Given the description of an element on the screen output the (x, y) to click on. 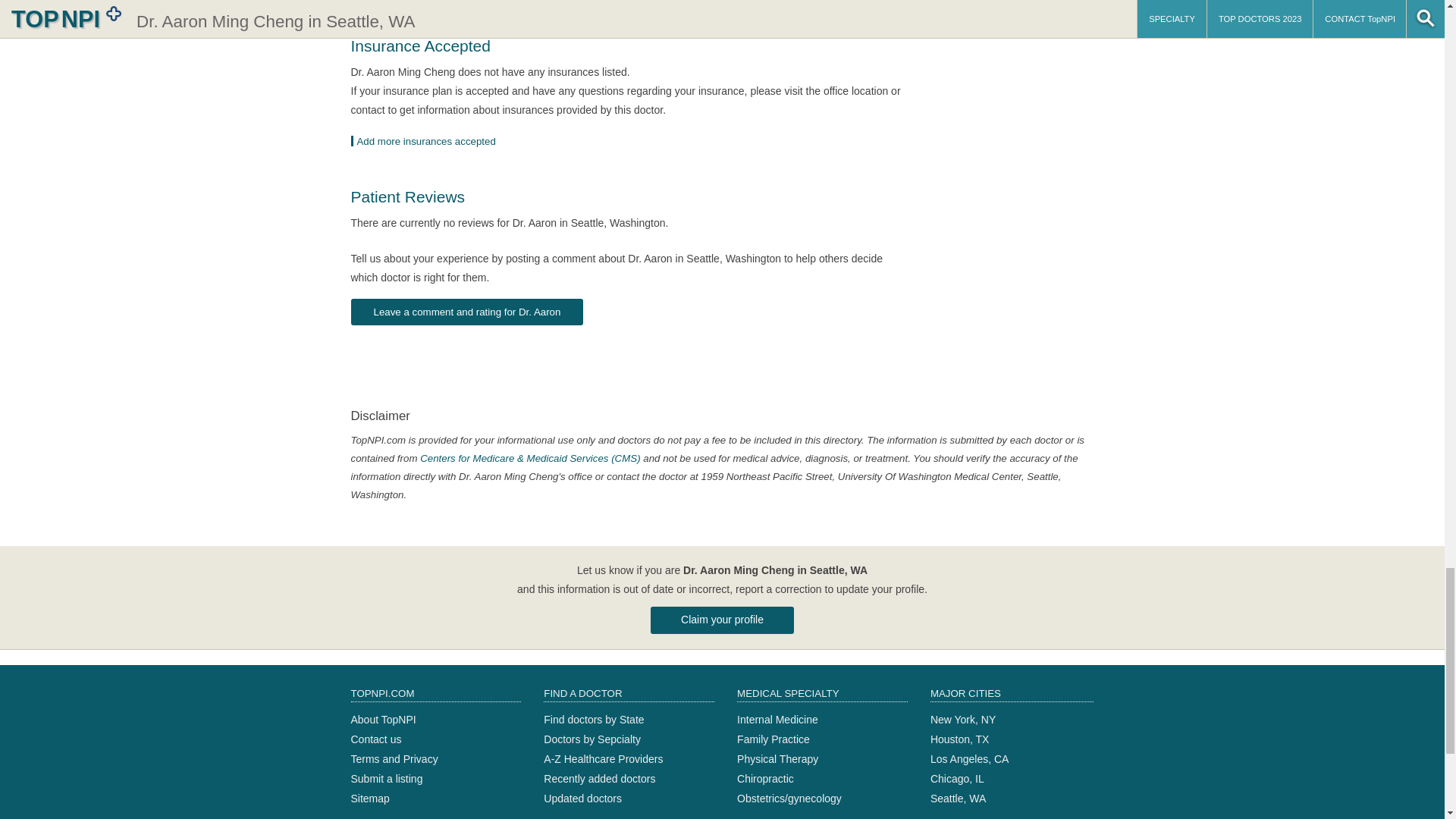
Add more insurances accepted (428, 141)
Leave a comment and rating for Dr. Aaron (466, 311)
Claim your profile (721, 619)
